Given the description of an element on the screen output the (x, y) to click on. 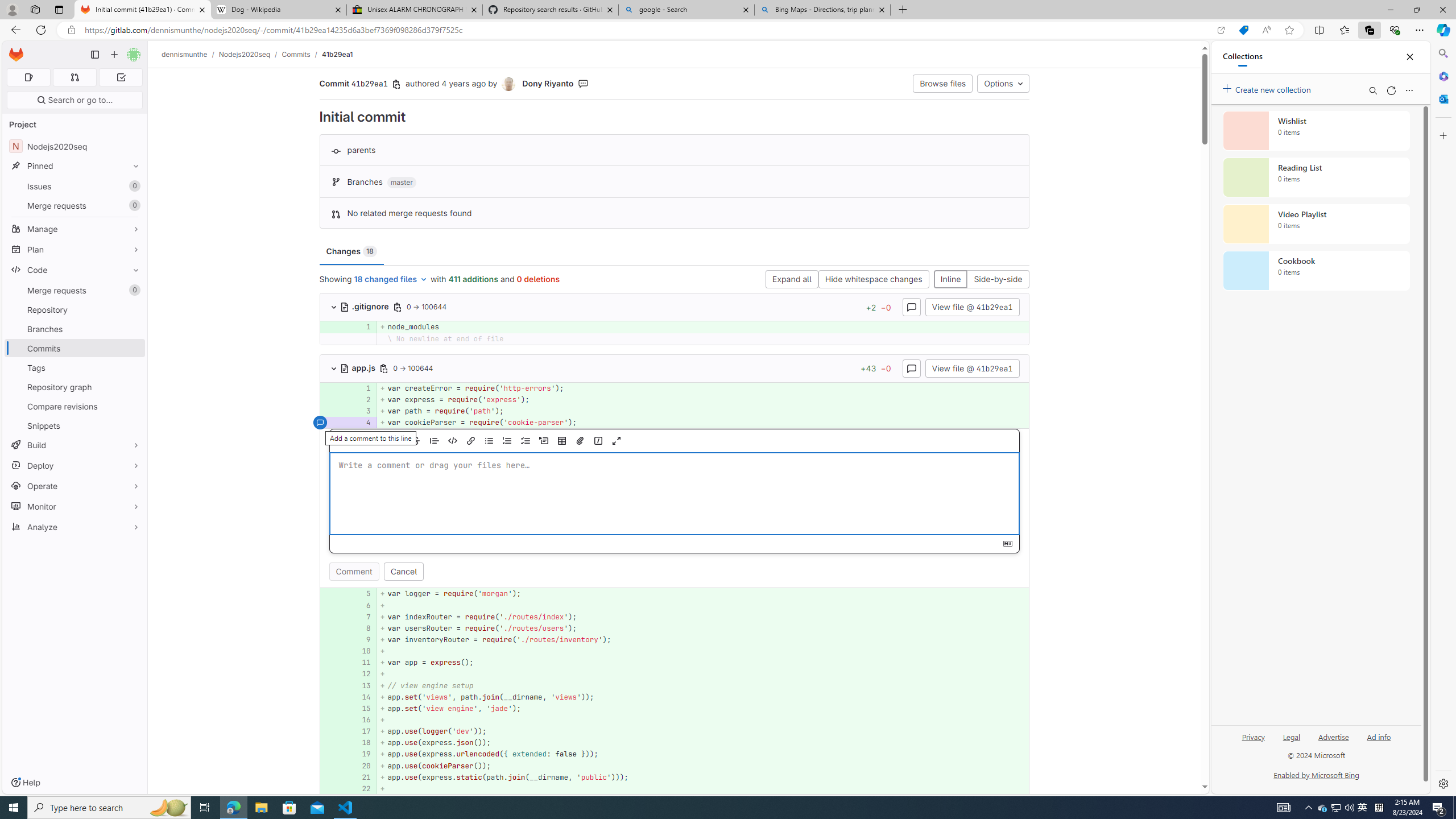
Open in app (1220, 29)
Build (74, 444)
Pin Tags (132, 367)
22 (360, 788)
Copy commit SHA (396, 83)
+ app.set('views', path.join(__dirname, 'views'));  (703, 696)
AutomationID: 4a68969ef8e858229267b842dedf42ab5dde4d50_0_6 (674, 605)
Options (1002, 83)
12 (360, 674)
Comment (354, 571)
To-Do list 0 (120, 76)
Pin Compare revisions (132, 406)
Commits (74, 348)
